Given the description of an element on the screen output the (x, y) to click on. 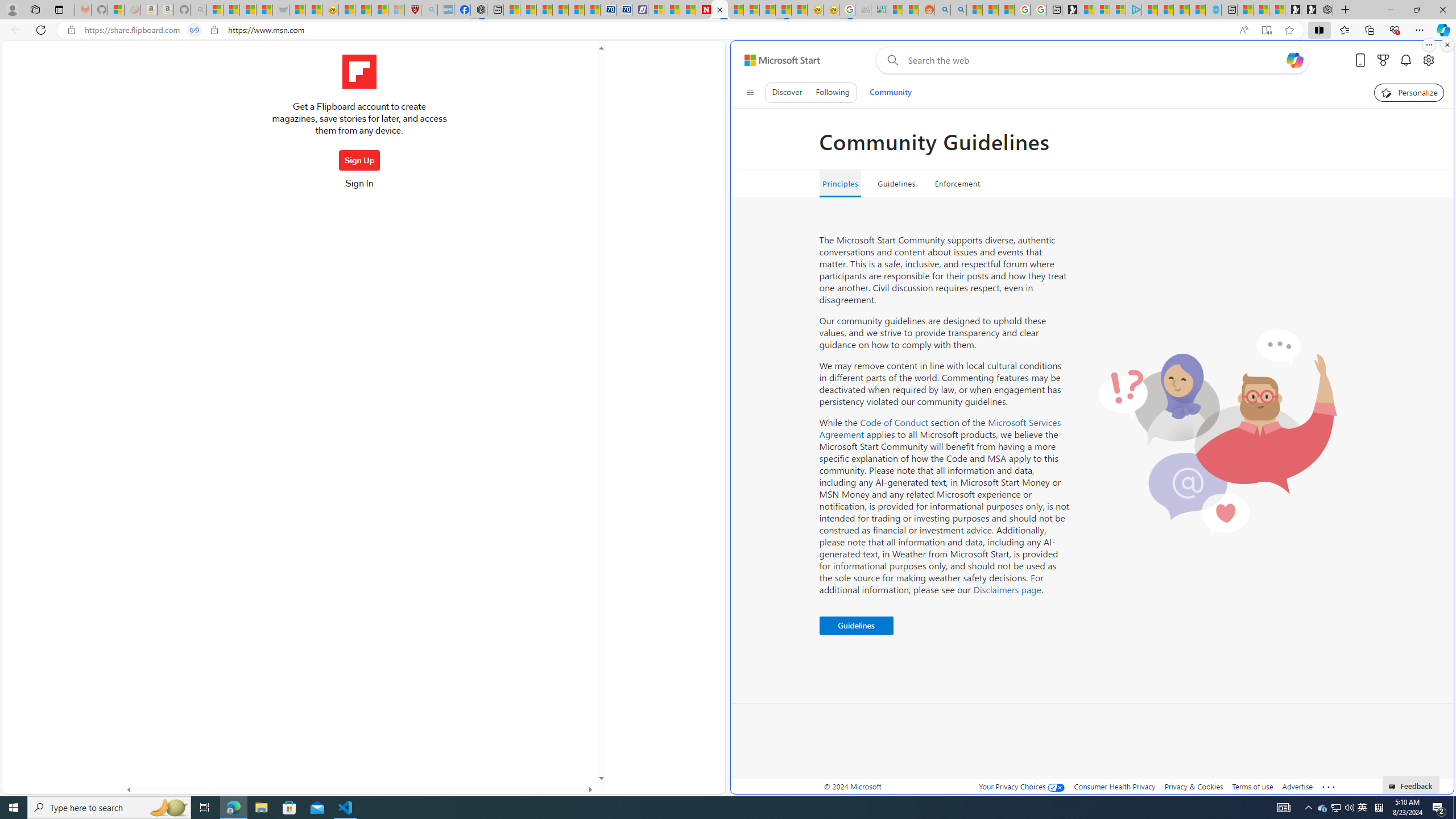
Enter your search term (1094, 59)
Skip to content (777, 59)
Play Free Online Games | Games from Microsoft Start (1308, 9)
Microsoft-Report a Concern to Bing (116, 9)
Sign Up (359, 159)
Community (889, 92)
Two people reacting contents (1216, 432)
